Given the description of an element on the screen output the (x, y) to click on. 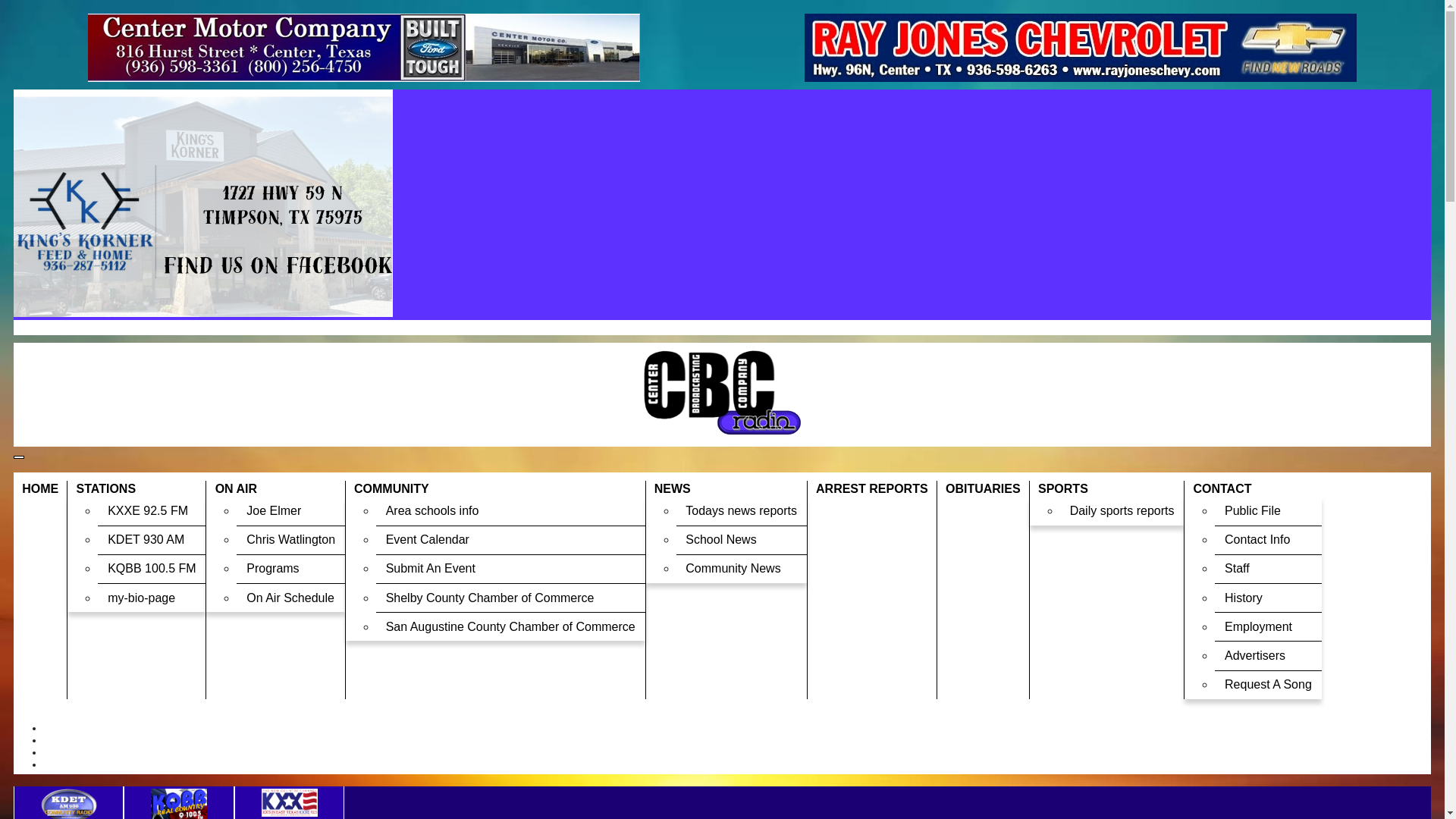
KQBB 100.5 FM (151, 569)
ON AIR (274, 488)
Staff (1267, 569)
On Air Schedule (289, 597)
CONTACT (1252, 488)
Community News (741, 569)
Todays news reports (741, 510)
HOME (39, 488)
STATIONS (135, 488)
Request A Song (1267, 684)
Contact Info (1267, 540)
Public File (1267, 510)
History (1267, 597)
Daily sports reports (1121, 510)
Area schools info (510, 510)
